Given the description of an element on the screen output the (x, y) to click on. 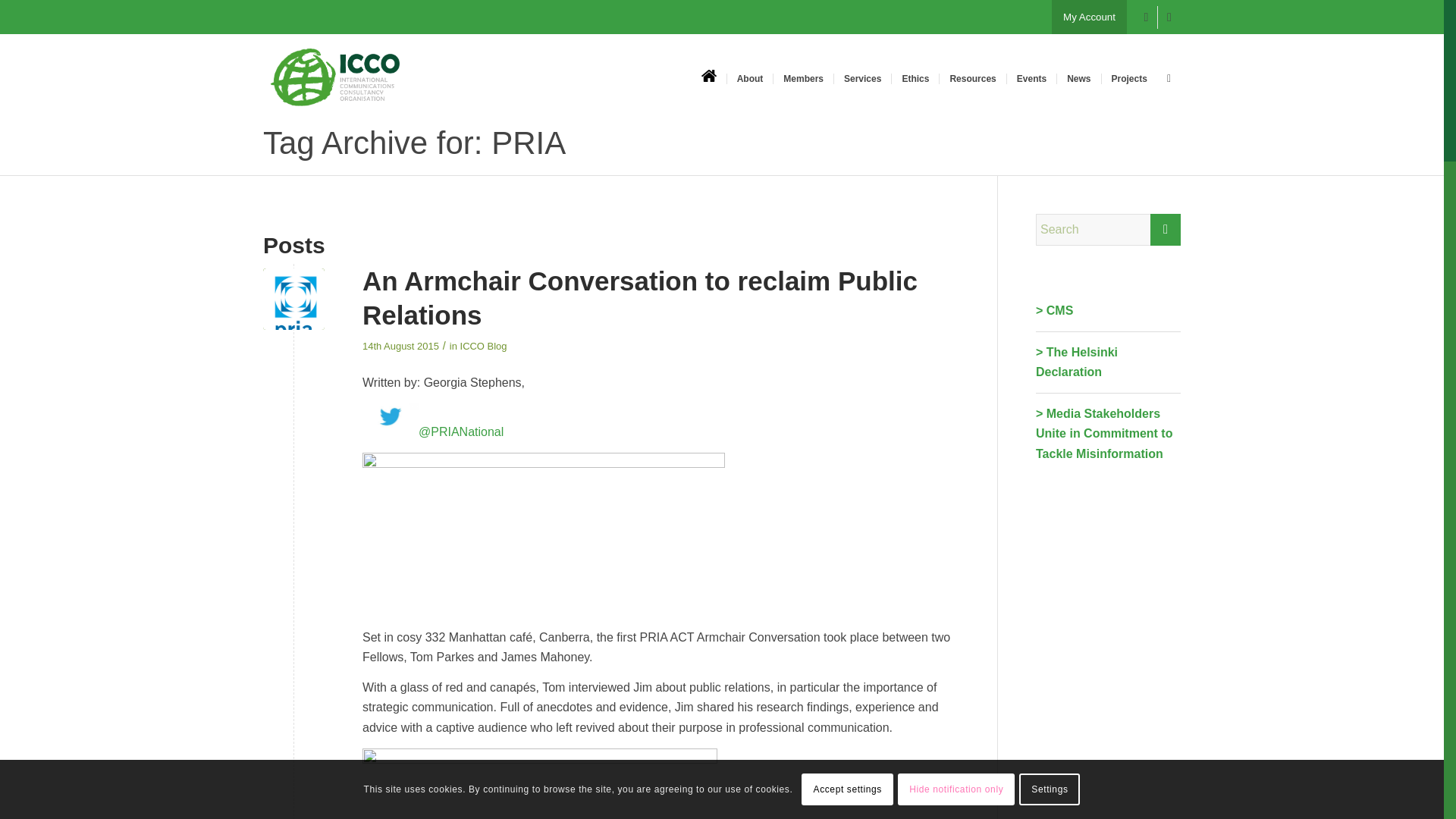
My Account (1088, 17)
Permanent Link: Tag Archive for: PRIA (414, 142)
Click to start search (1165, 229)
Members (802, 77)
Services (861, 77)
About (749, 77)
X (1168, 16)
Facebook (1146, 16)
PRIA-logo (293, 299)
Ethics (915, 77)
